Given the description of an element on the screen output the (x, y) to click on. 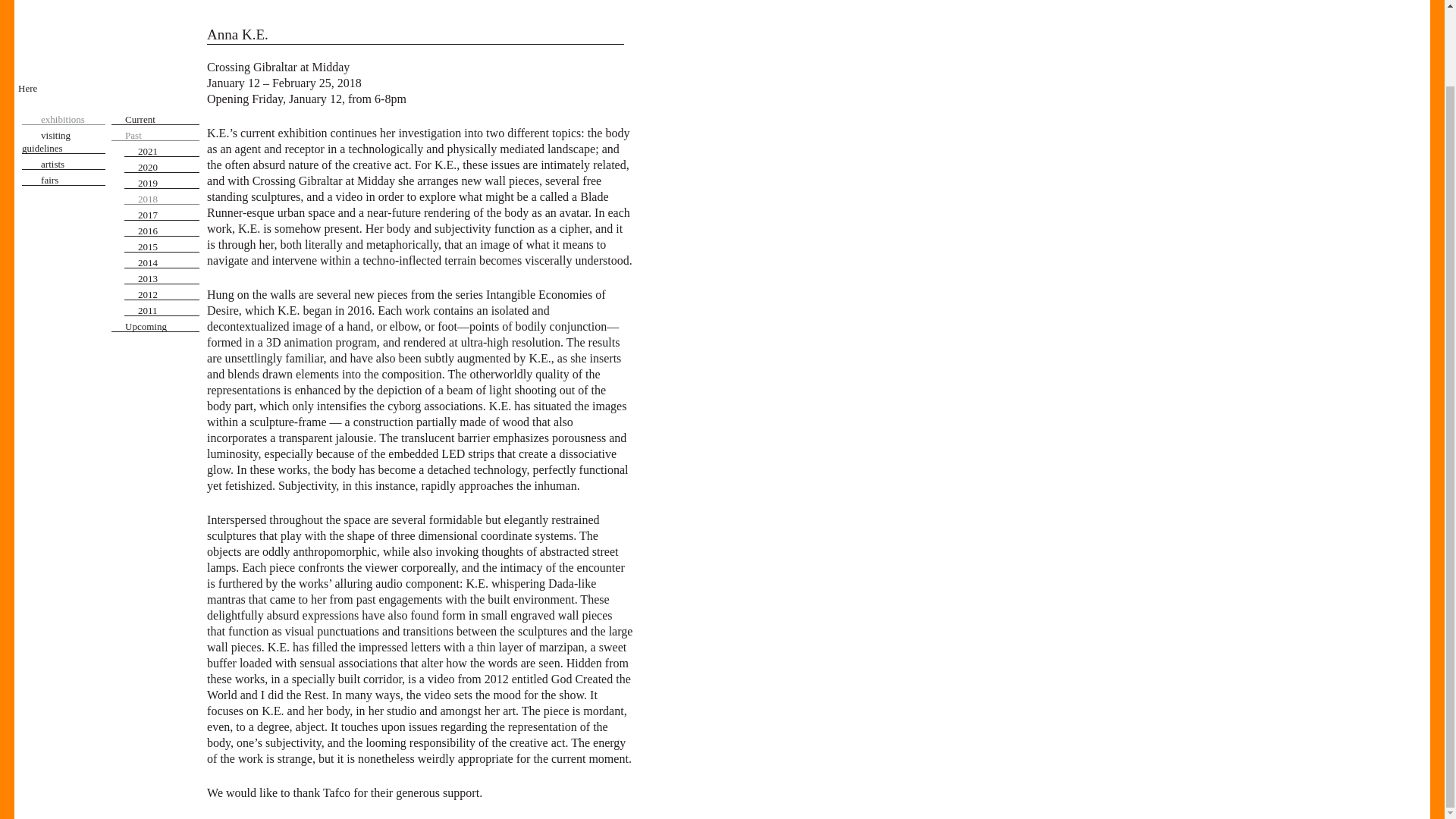
exhibitions (62, 116)
2013 (169, 276)
2018 (169, 196)
2015 (169, 244)
2011 (169, 308)
2019 (169, 180)
2021 (169, 148)
Upcoming (157, 324)
2012 (169, 292)
2017 (169, 212)
